Given the description of an element on the screen output the (x, y) to click on. 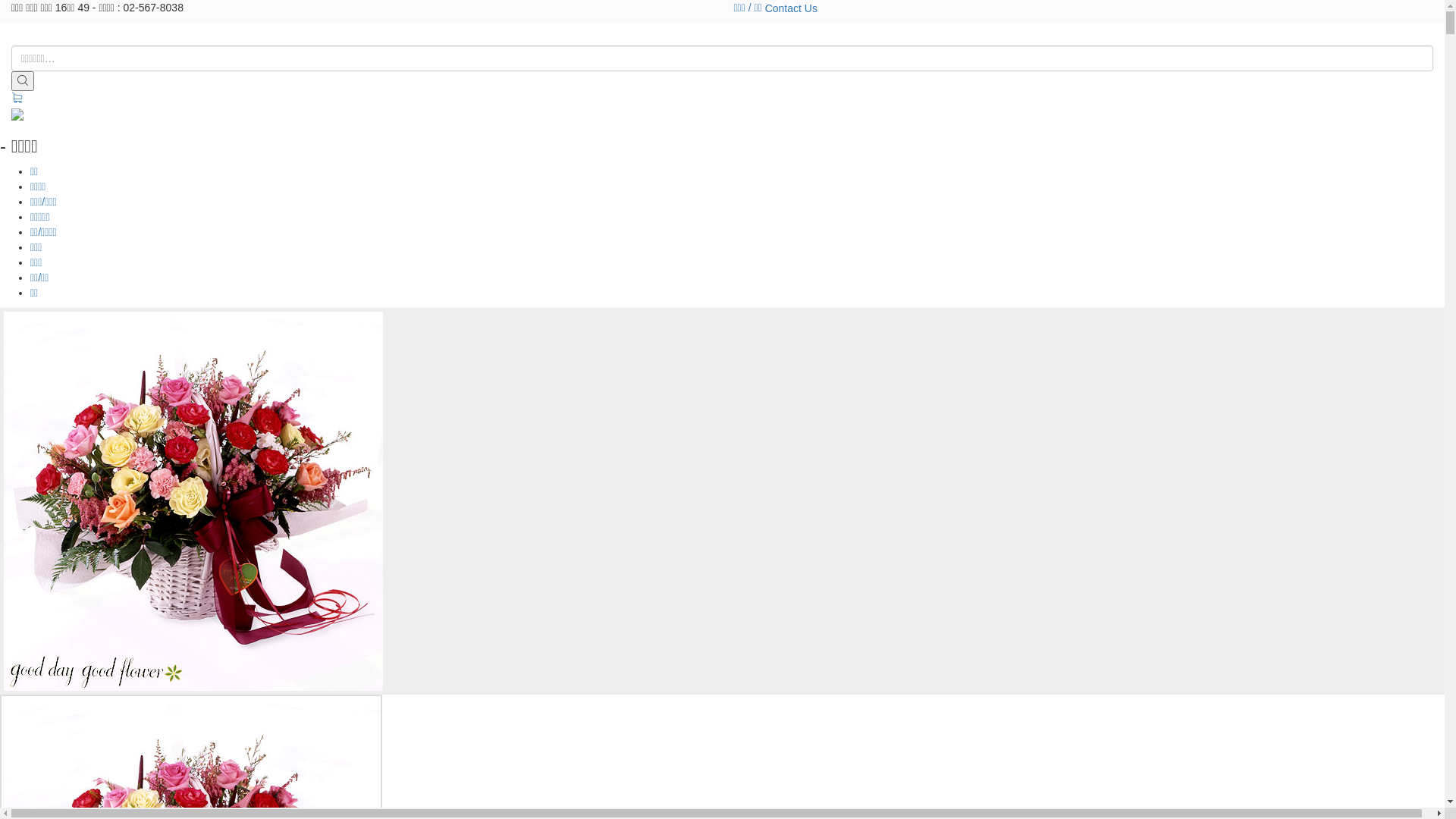
Contact Us Element type: text (791, 8)
